Given the description of an element on the screen output the (x, y) to click on. 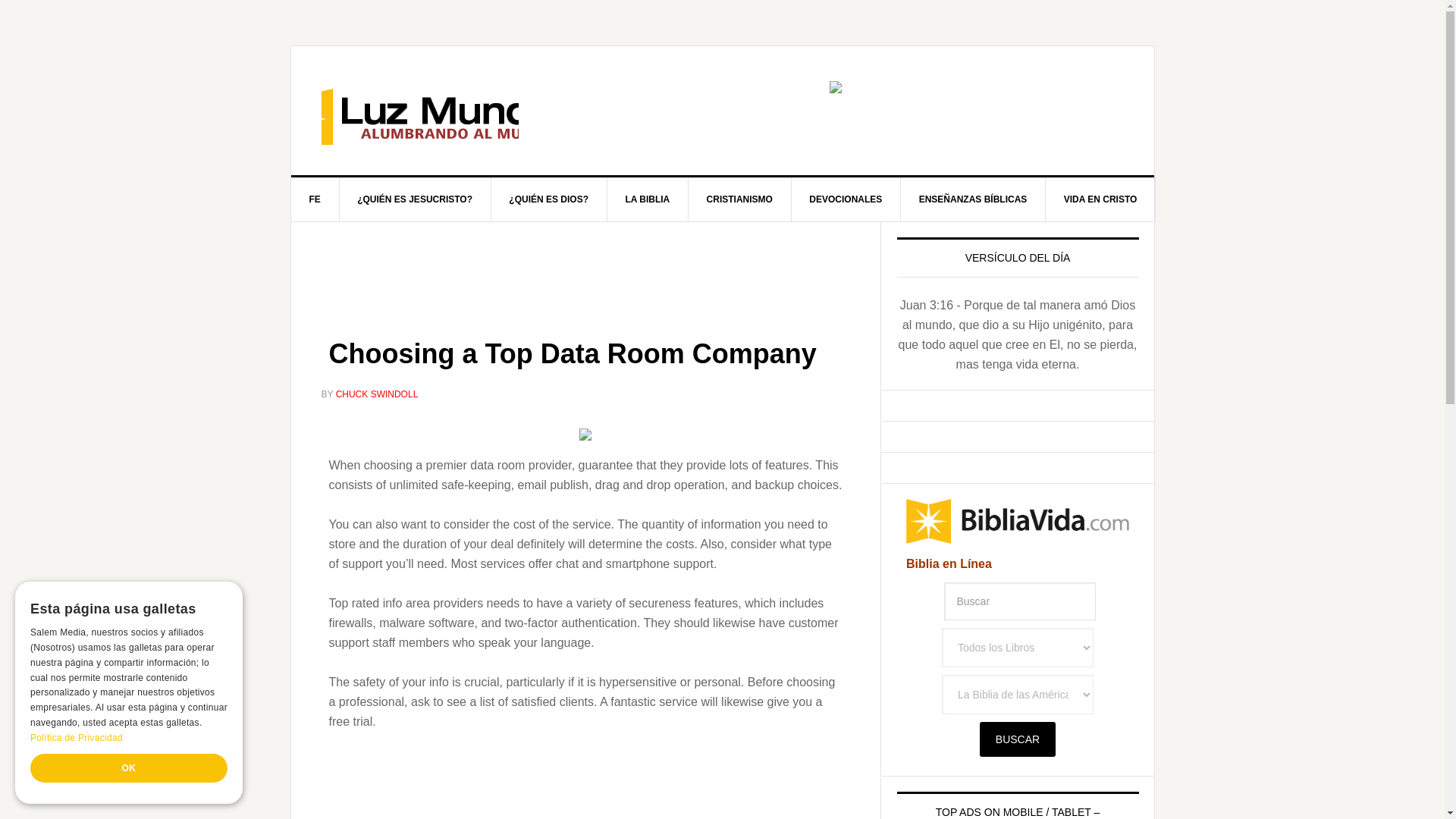
LA BIBLIA (647, 199)
CRISTIANISMO (740, 199)
FE (315, 199)
LUZ MUNDIAL (419, 110)
Buscar (1017, 738)
Buscar (1018, 600)
